Given the description of an element on the screen output the (x, y) to click on. 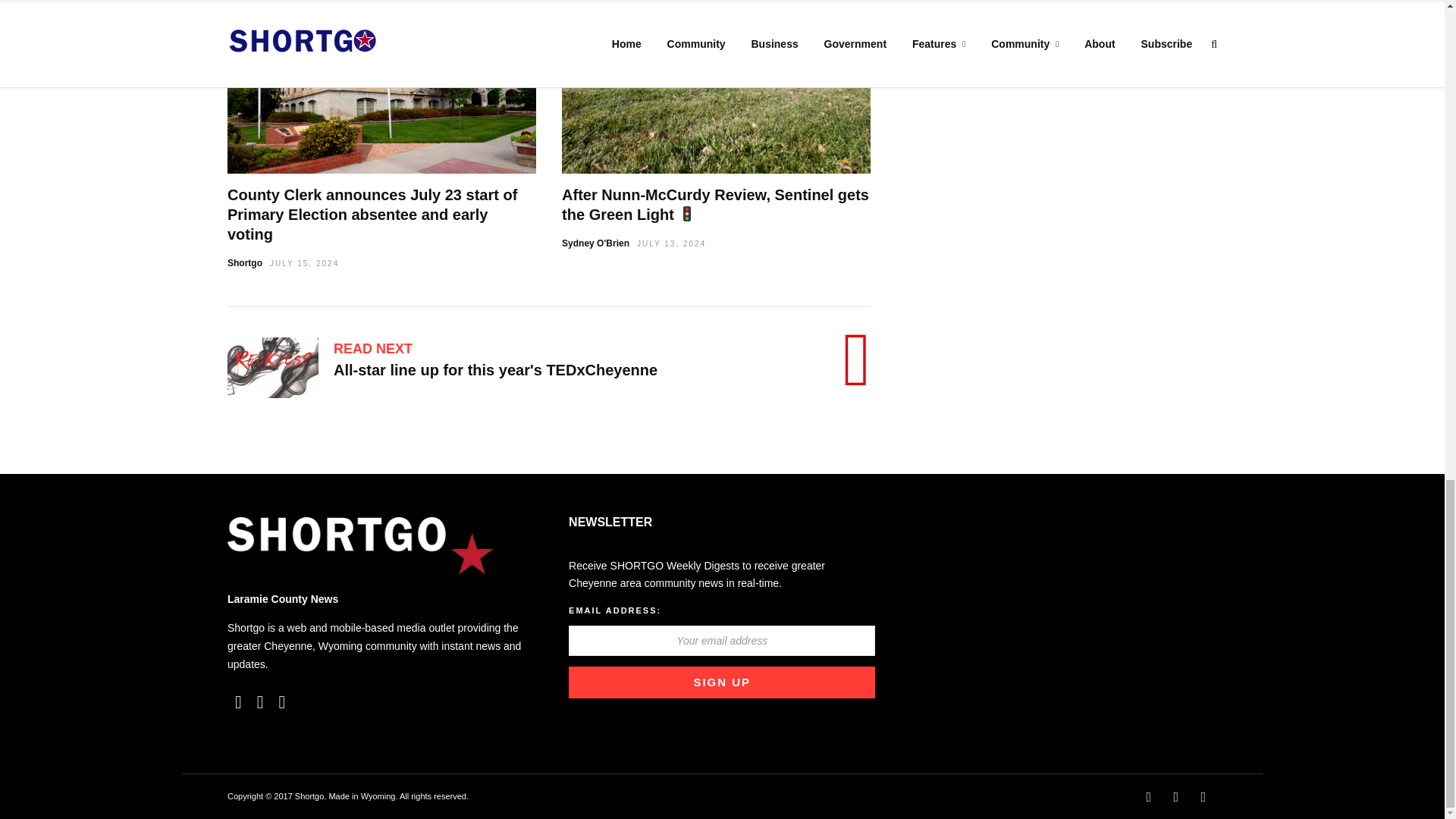
Sign up (722, 682)
